Given the description of an element on the screen output the (x, y) to click on. 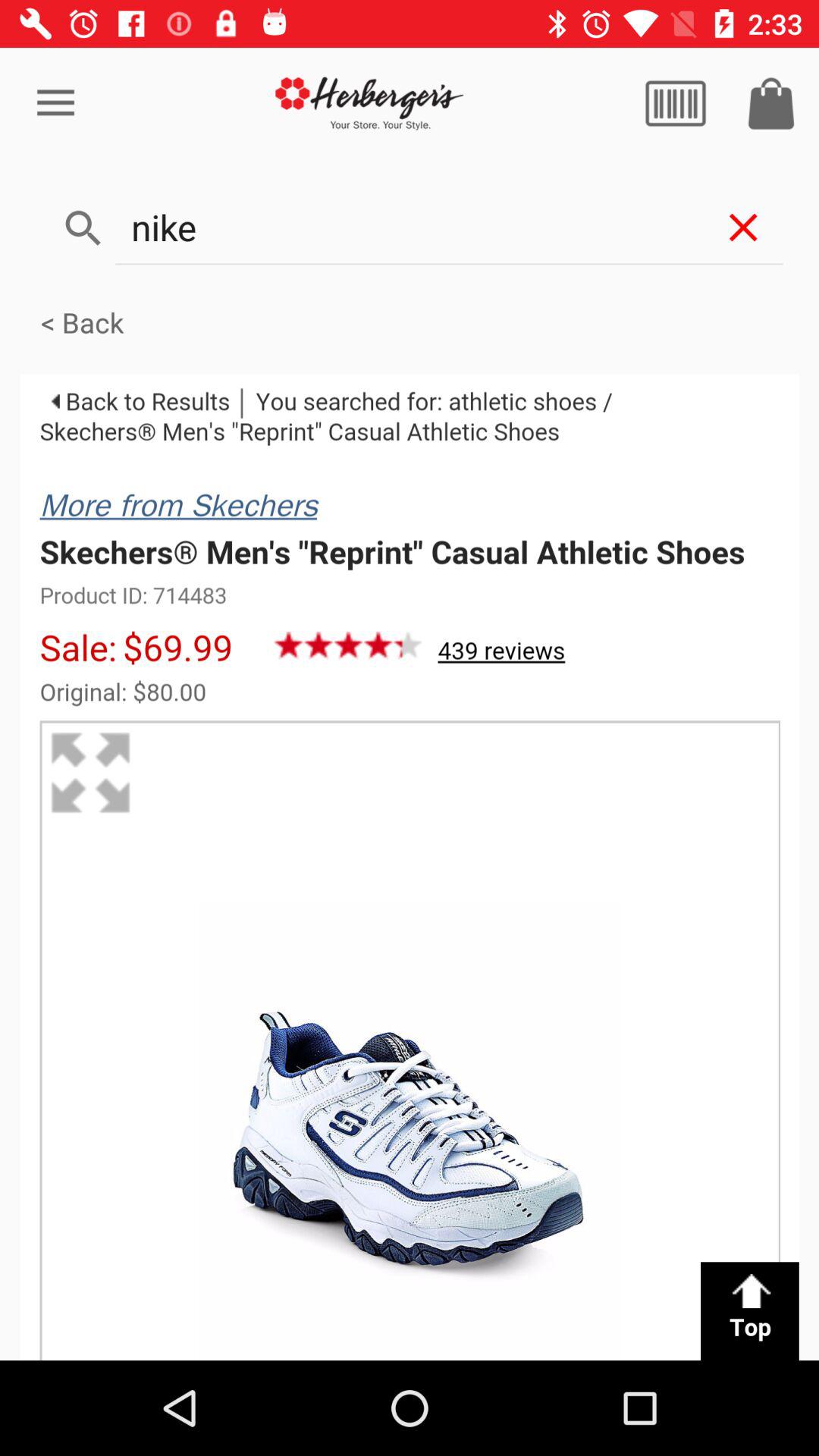
click button (675, 103)
